Given the description of an element on the screen output the (x, y) to click on. 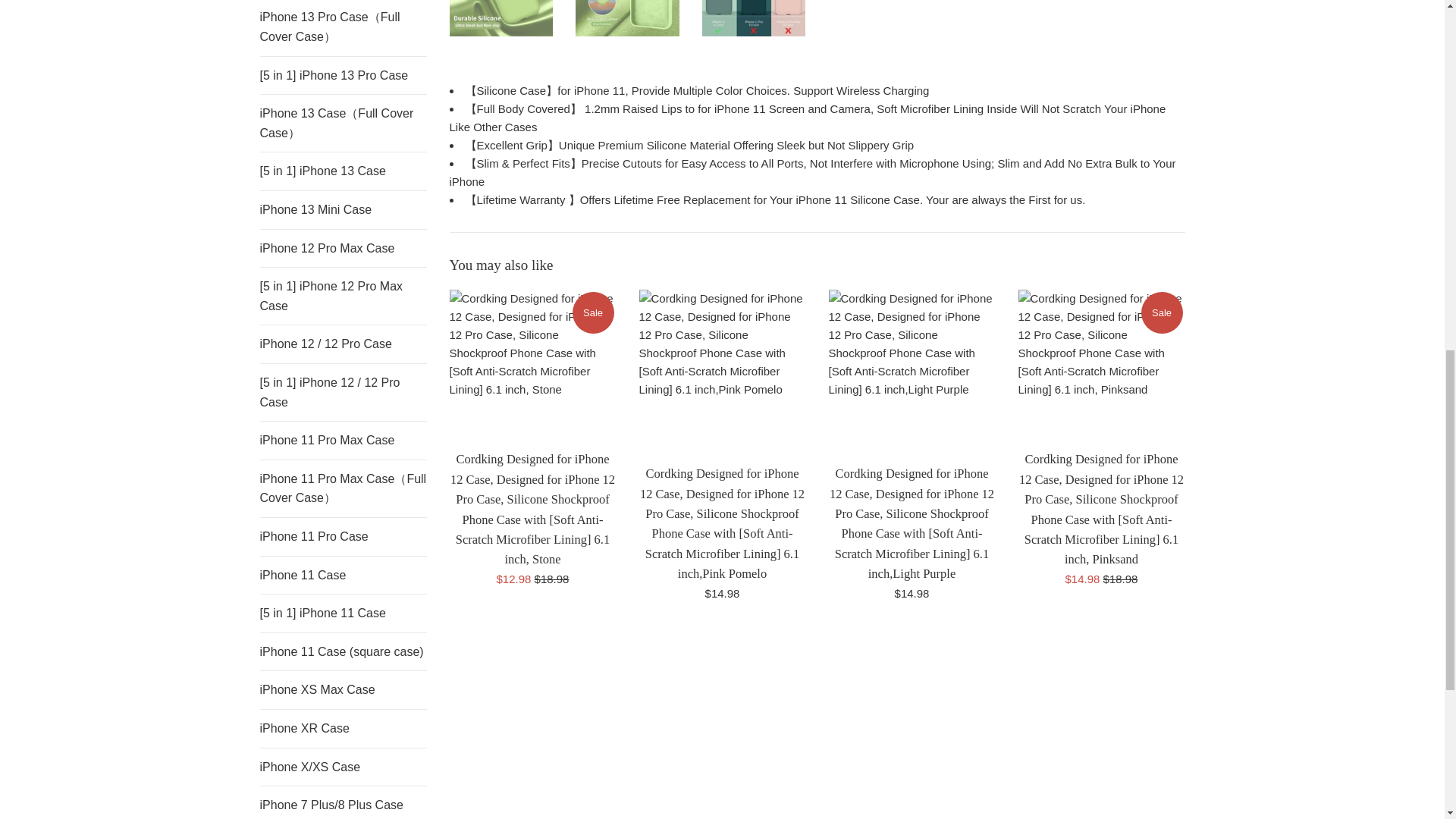
iPhone XS Max Case (342, 689)
iPhone 11 Pro Max Case (342, 440)
iPhone 13 Mini Case (342, 209)
iPhone XR Case (342, 728)
iPhone 11 Case (342, 575)
iPhone 12 Pro Max Case (342, 248)
iPhone 11 Pro Case (342, 536)
